Given the description of an element on the screen output the (x, y) to click on. 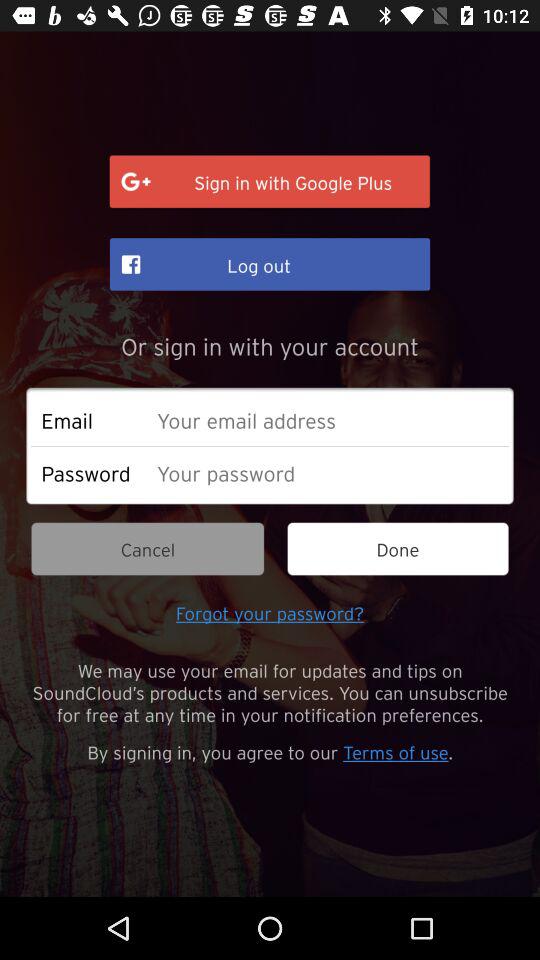
turn on the icon below the password (147, 548)
